Given the description of an element on the screen output the (x, y) to click on. 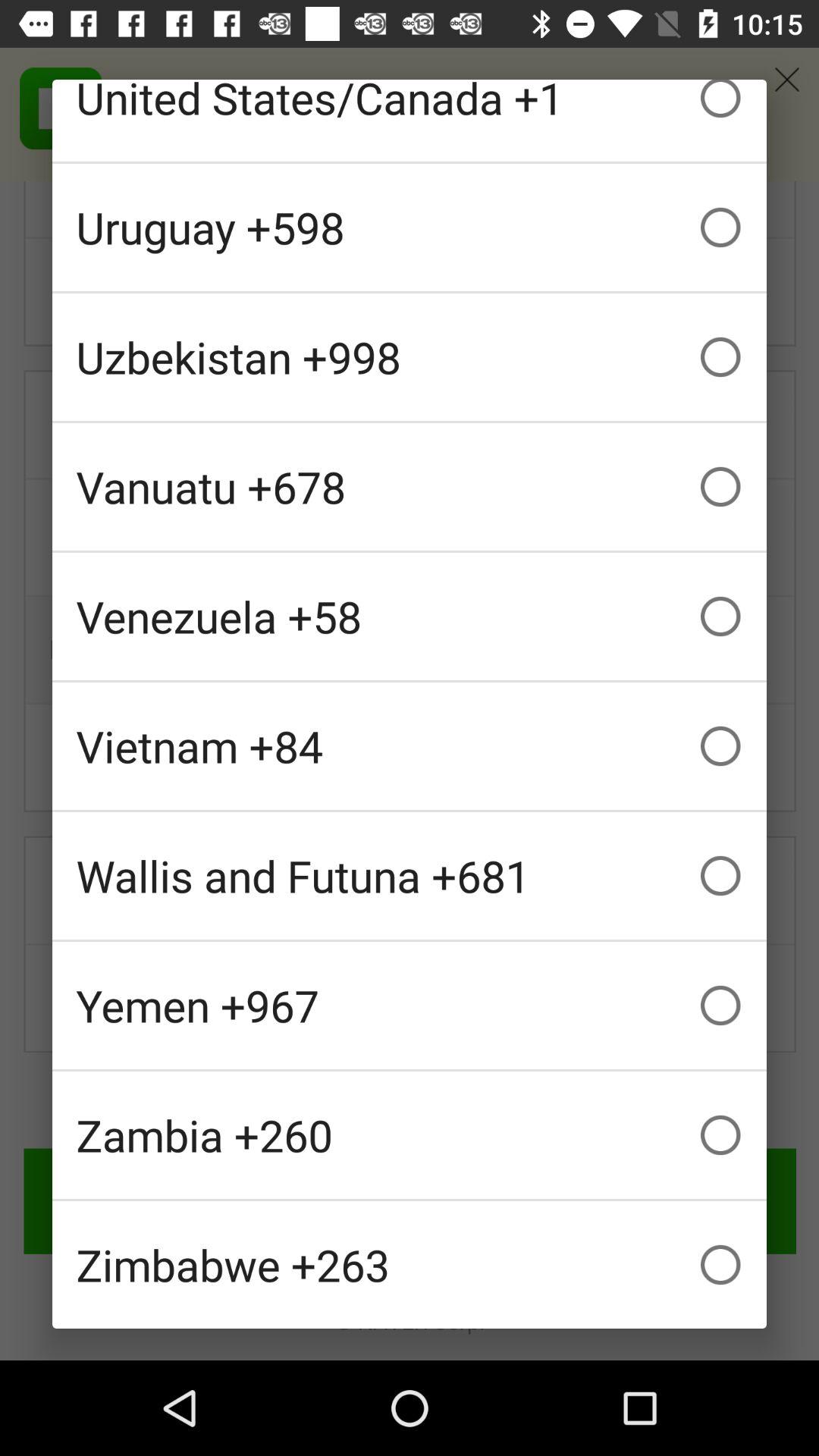
tap checkbox below venezuela +58 (409, 745)
